Given the description of an element on the screen output the (x, y) to click on. 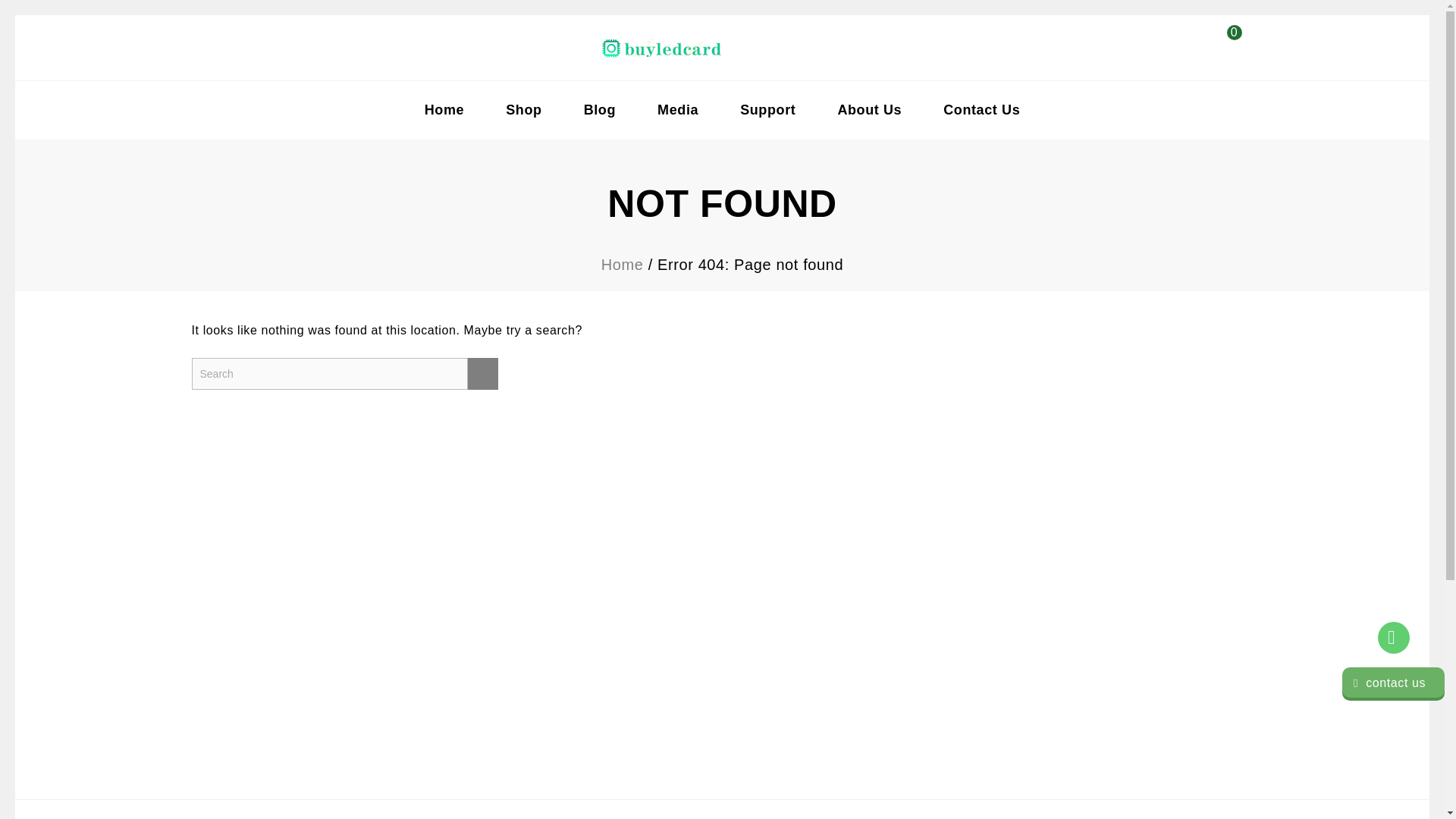
Go (482, 373)
buy led card (661, 47)
View your shopping cart (1229, 56)
Shop (523, 110)
Go (482, 373)
Support (766, 110)
Blog (599, 110)
Contact Us (981, 110)
About Us (869, 110)
0 (1229, 56)
